Given the description of an element on the screen output the (x, y) to click on. 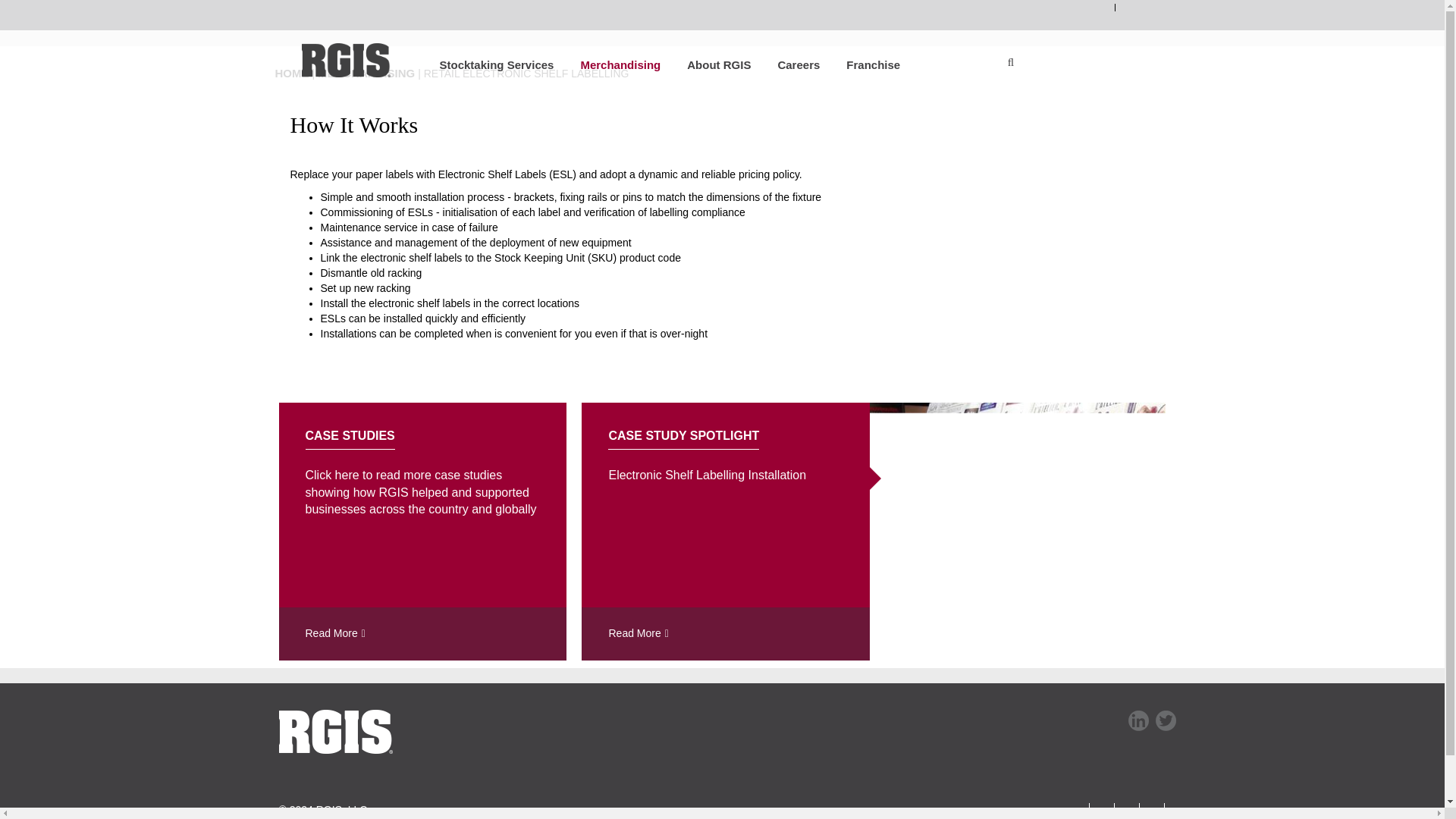
Stocktaking Services (482, 64)
Franchise (859, 64)
HOME (291, 72)
Merchandising (607, 64)
Read More  (423, 633)
The hands-on resources to keep your stores fresh. (607, 64)
The hands-on resources to keep your stores fresh. (365, 72)
Careers (785, 64)
Read More (724, 633)
MERCHANDISING (365, 72)
About RGIS (706, 64)
